Given the description of an element on the screen output the (x, y) to click on. 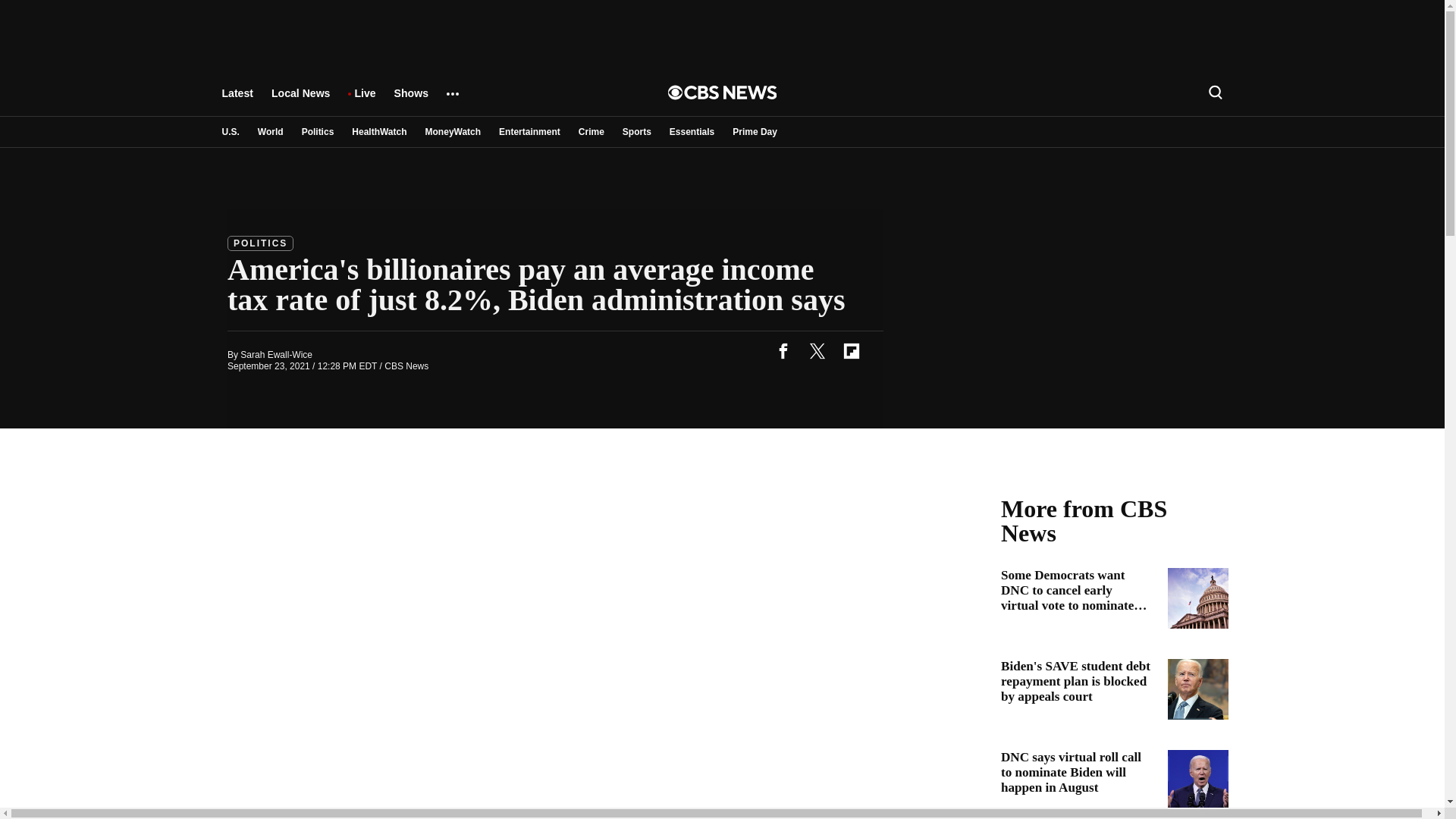
Latest (236, 100)
Local News (300, 100)
facebook (782, 350)
twitter (816, 350)
flipboard (850, 350)
